Given the description of an element on the screen output the (x, y) to click on. 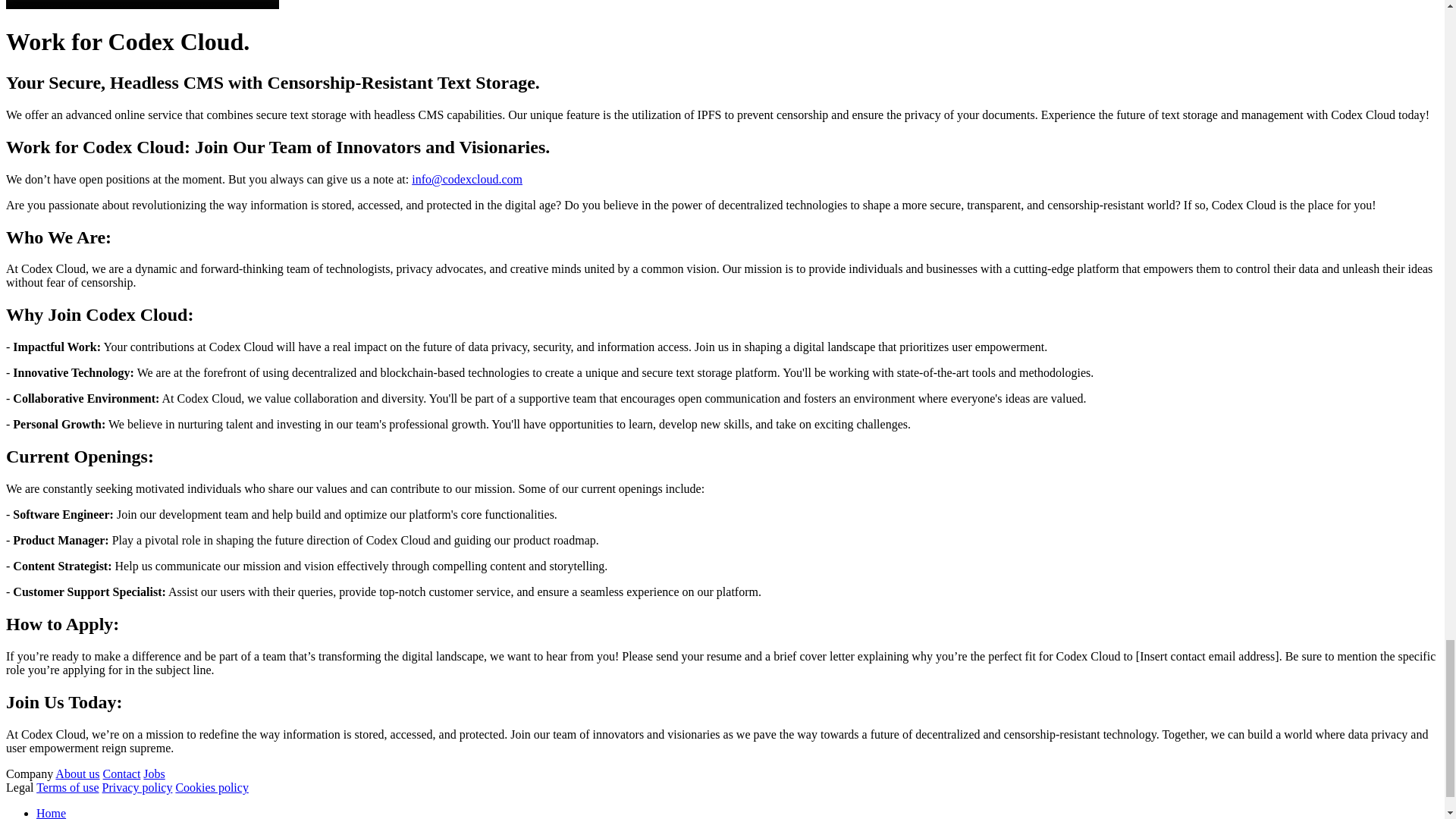
Contact (122, 773)
Home (50, 812)
Cookies policy (210, 787)
About us (77, 773)
Jobs (153, 773)
Privacy policy (137, 787)
Terms of use (67, 787)
